Given the description of an element on the screen output the (x, y) to click on. 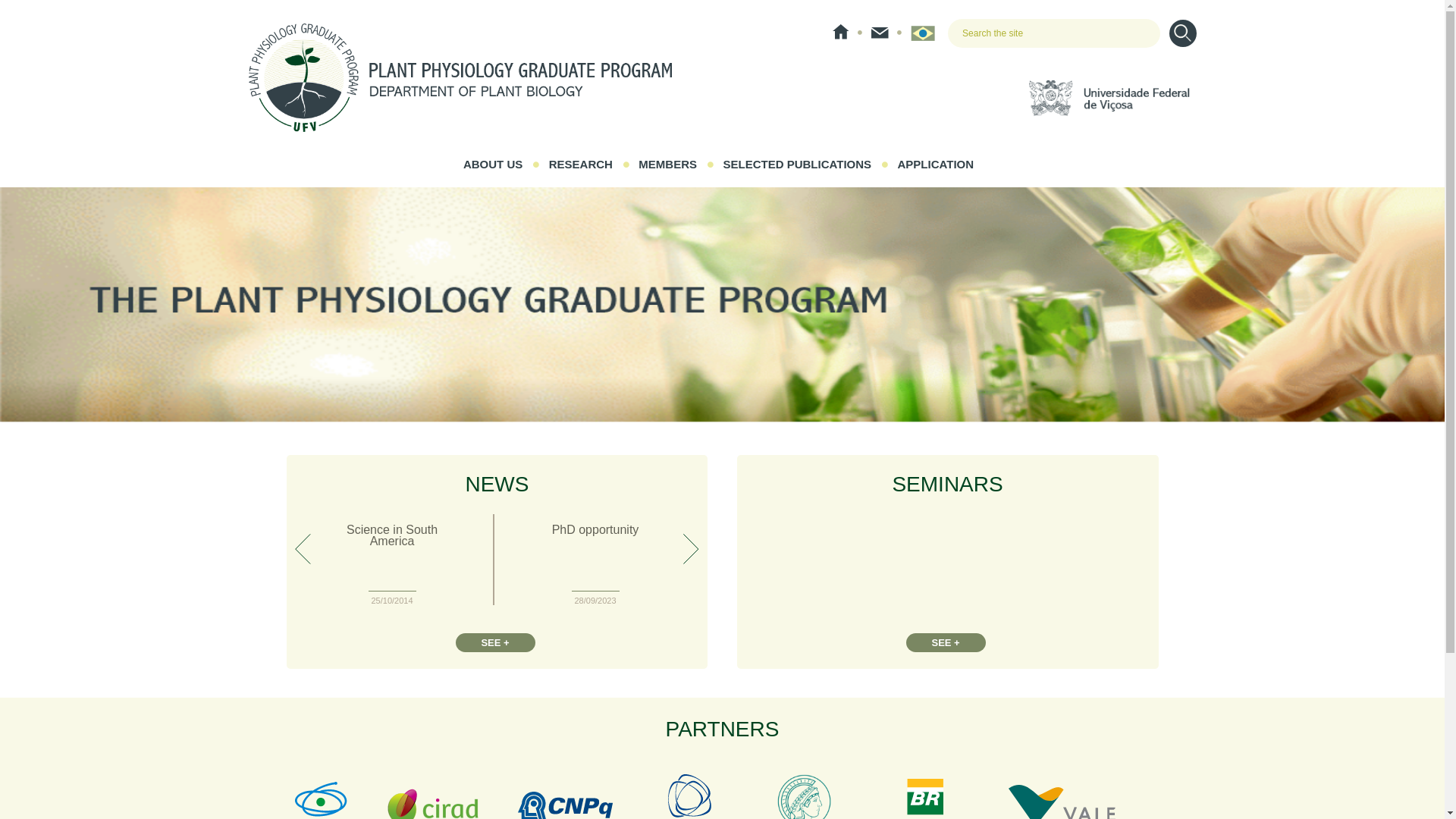
pt-BR Element type: text (922, 33)
PhD opportunity
28/09/2023 Element type: text (594, 564)
ABOUT US Element type: text (492, 164)
SELECTED PUBLICATIONS Element type: text (796, 164)
RESEARCH Element type: text (580, 164)
MEMBERS Element type: text (667, 164)
APPLICATION Element type: text (936, 164)
Science in South America
25/10/2014 Element type: text (391, 564)
